Given the description of an element on the screen output the (x, y) to click on. 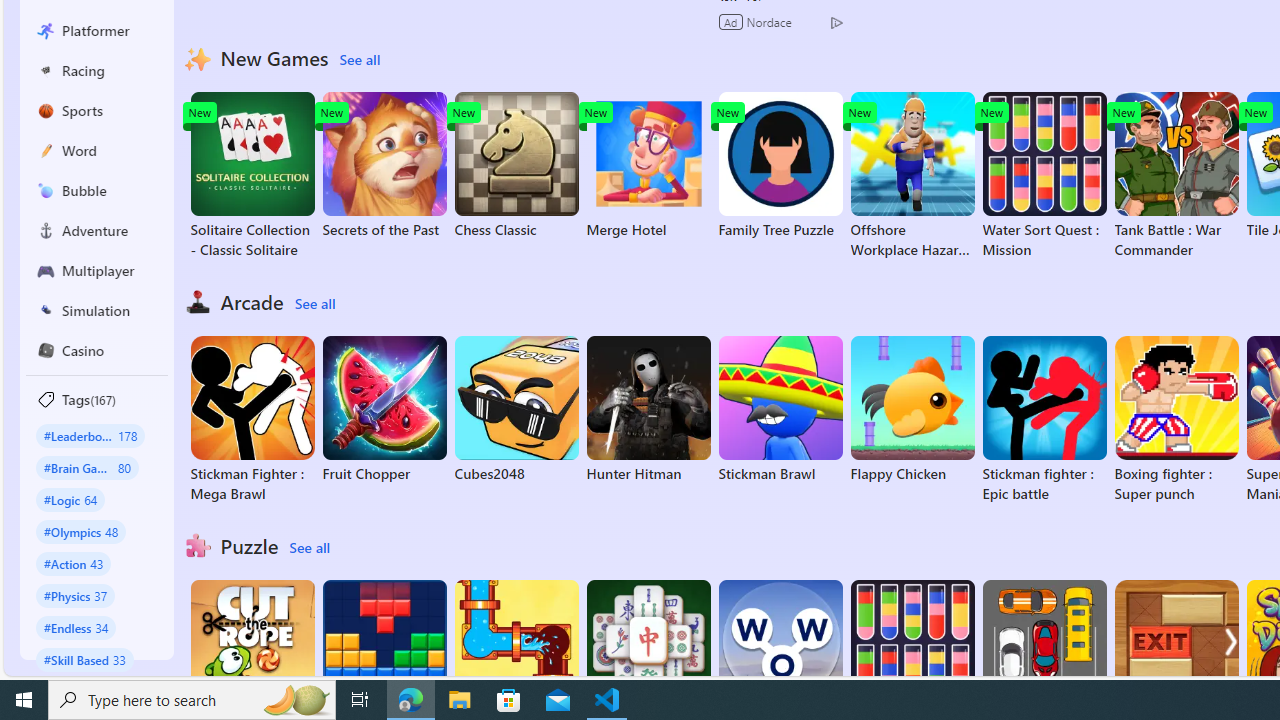
Stickman fighter : Epic battle (1044, 419)
Water Sort Quest : Mission (1044, 175)
#Physics 37 (75, 595)
Chess Classic (516, 165)
Tank Battle : War Commander (1176, 175)
#Brain Games 80 (87, 467)
See all (309, 547)
#Logic 64 (70, 498)
Flappy Chicken (912, 409)
Stickman Brawl (780, 409)
Solitaire Collection - Classic Solitaire (251, 175)
#Endless 34 (75, 627)
#Action 43 (73, 563)
Family Tree Puzzle (780, 165)
Fruit Chopper (384, 409)
